Given the description of an element on the screen output the (x, y) to click on. 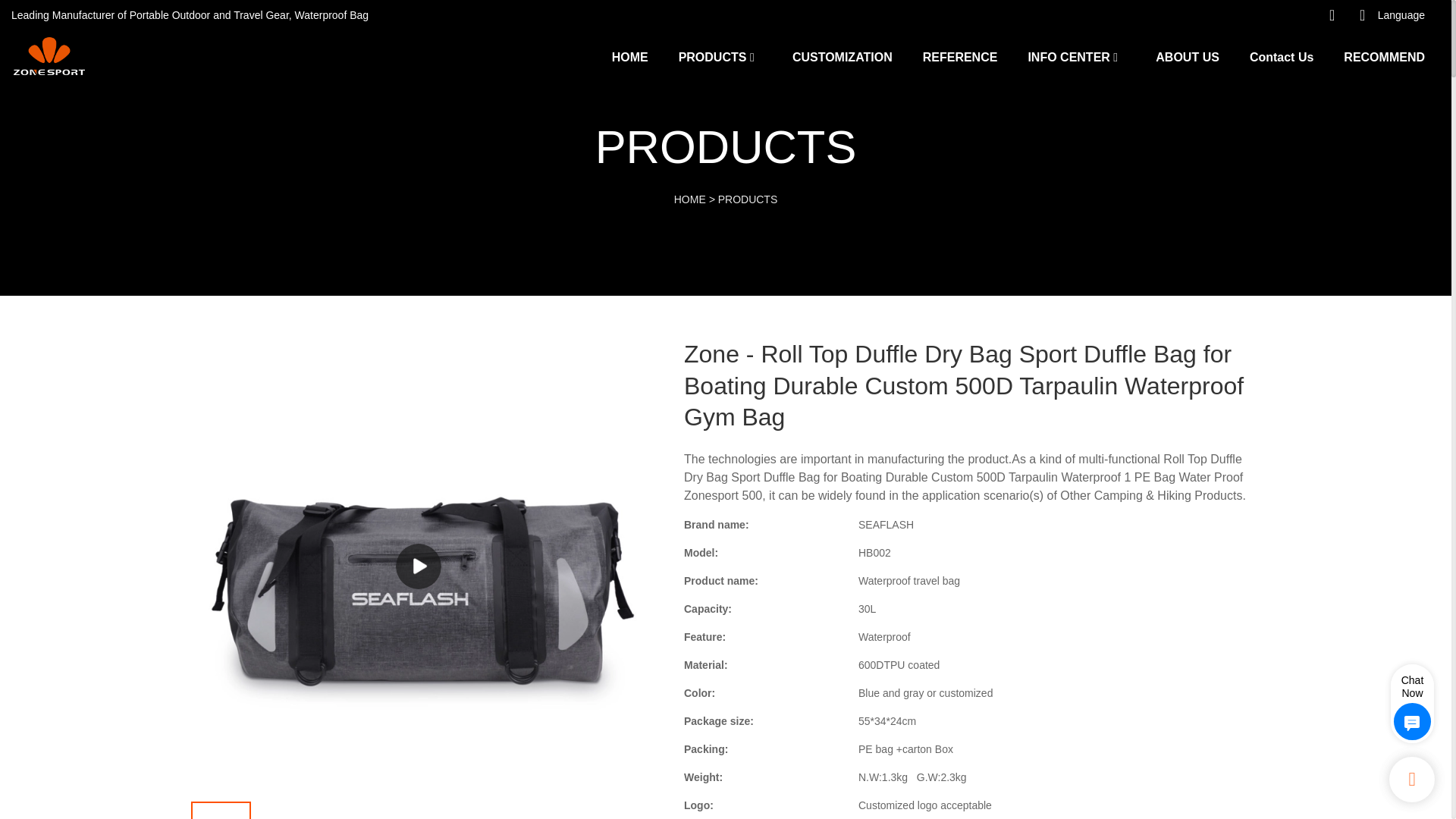
RECOMMEND (1384, 56)
INFO CENTER (1068, 56)
PRODUCTS (747, 199)
ABOUT US (1188, 56)
youtube (1203, 15)
facebook (1264, 15)
REFERENCE (960, 56)
HOME (690, 199)
instagram (1233, 15)
Contact Us (1281, 56)
PRODUCTS (712, 56)
HOME (629, 56)
CUSTOMIZATION (842, 56)
